Given the description of an element on the screen output the (x, y) to click on. 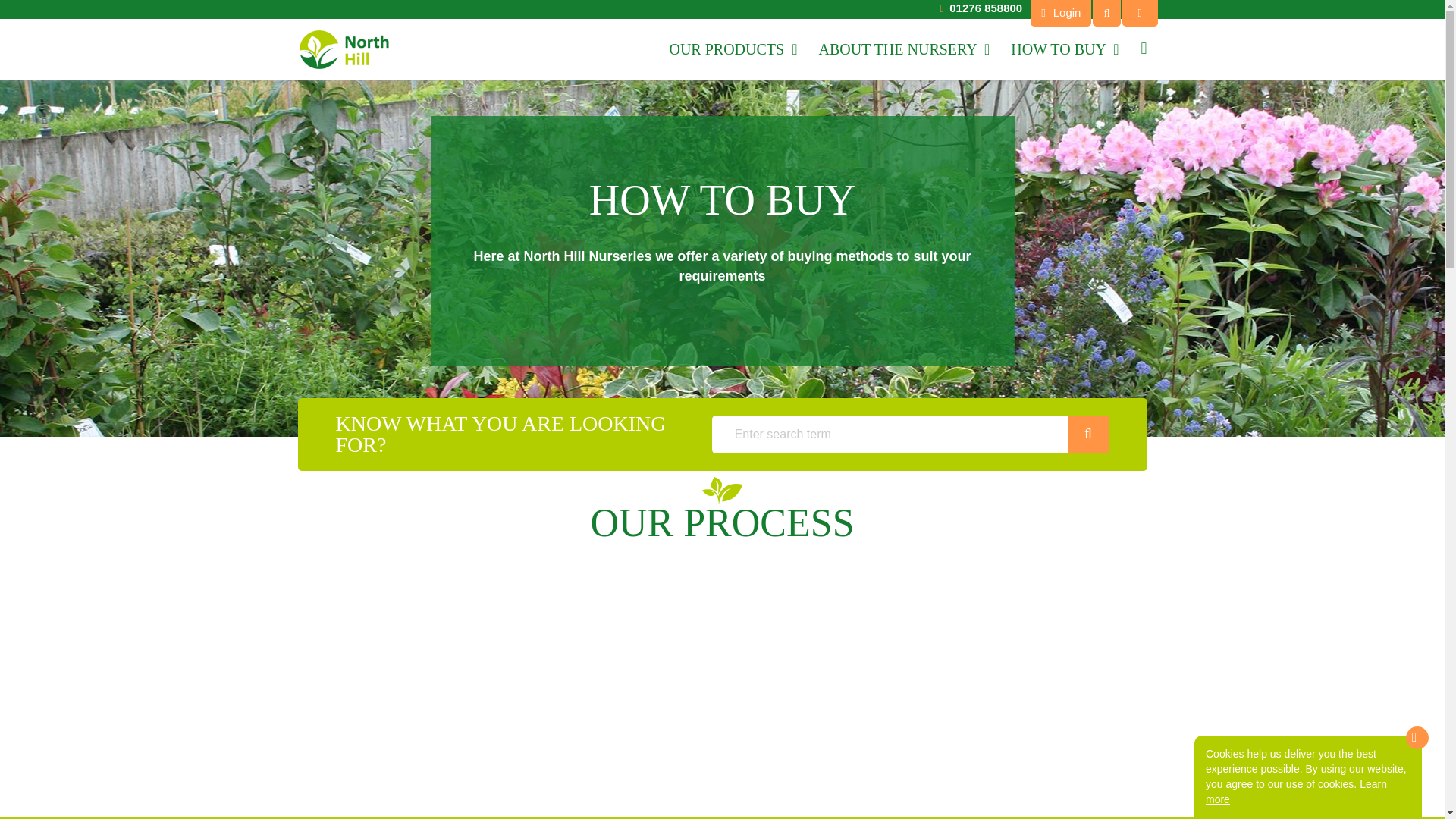
OUR PRODUCTS (733, 48)
01276 858800 (985, 7)
Login (1060, 13)
